Given the description of an element on the screen output the (x, y) to click on. 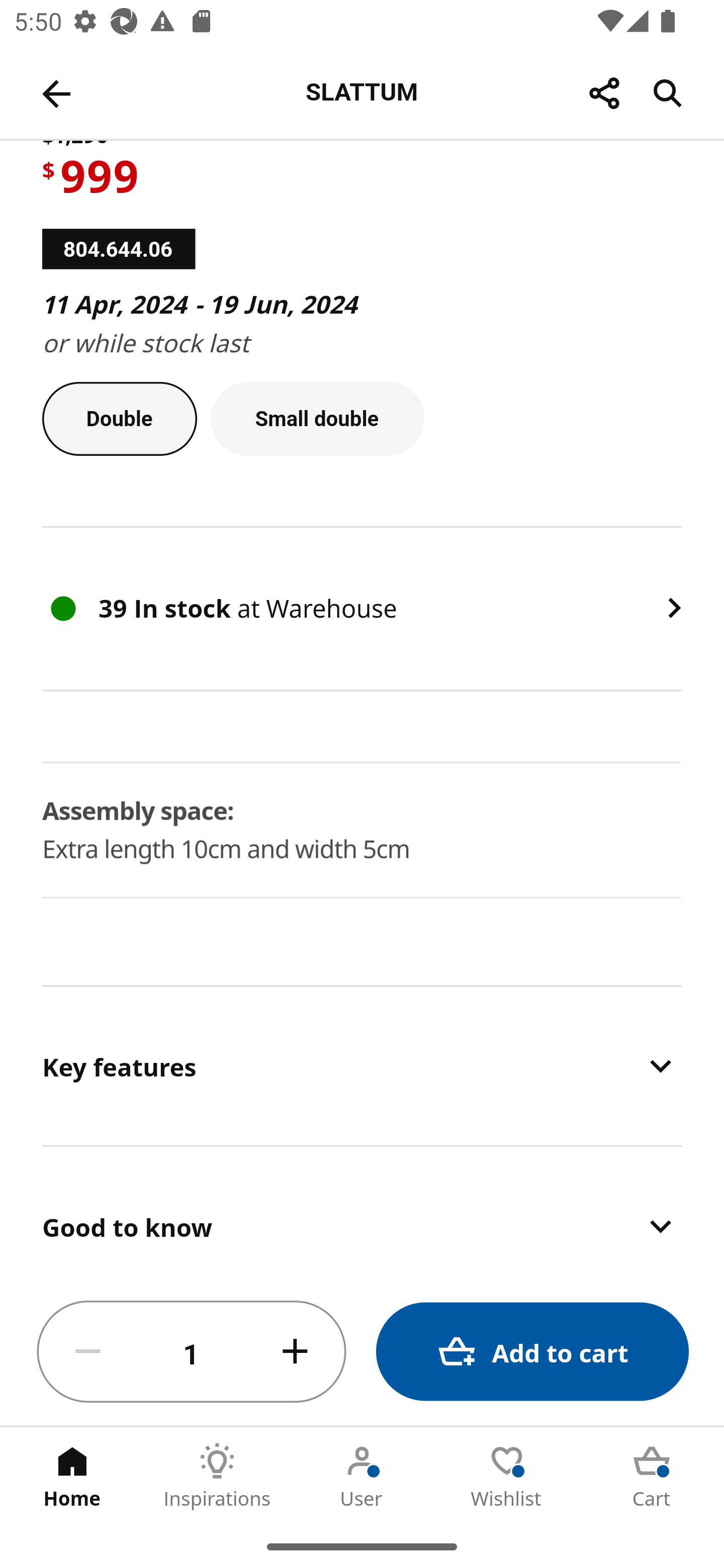
Double (118, 419)
Small double (317, 419)
39 In stock at Warehouse (361, 608)
Key features (361, 1065)
Good to know (361, 1213)
Add to cart (531, 1352)
1 (191, 1352)
Home
Tab 1 of 5 (72, 1476)
Inspirations
Tab 2 of 5 (216, 1476)
User
Tab 3 of 5 (361, 1476)
Wishlist
Tab 4 of 5 (506, 1476)
Cart
Tab 5 of 5 (651, 1476)
